Given the description of an element on the screen output the (x, y) to click on. 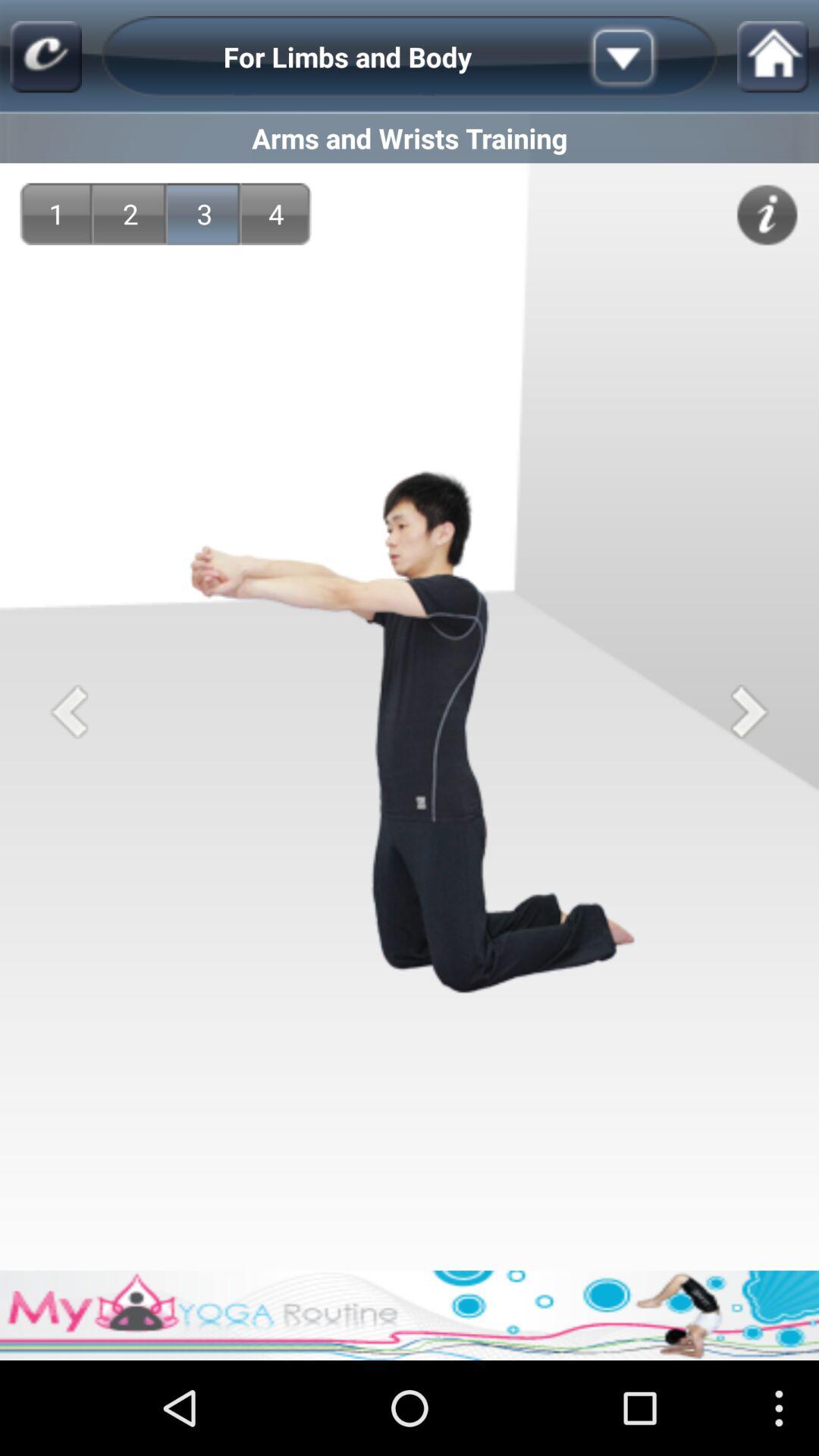
next arrow (749, 711)
